Given the description of an element on the screen output the (x, y) to click on. 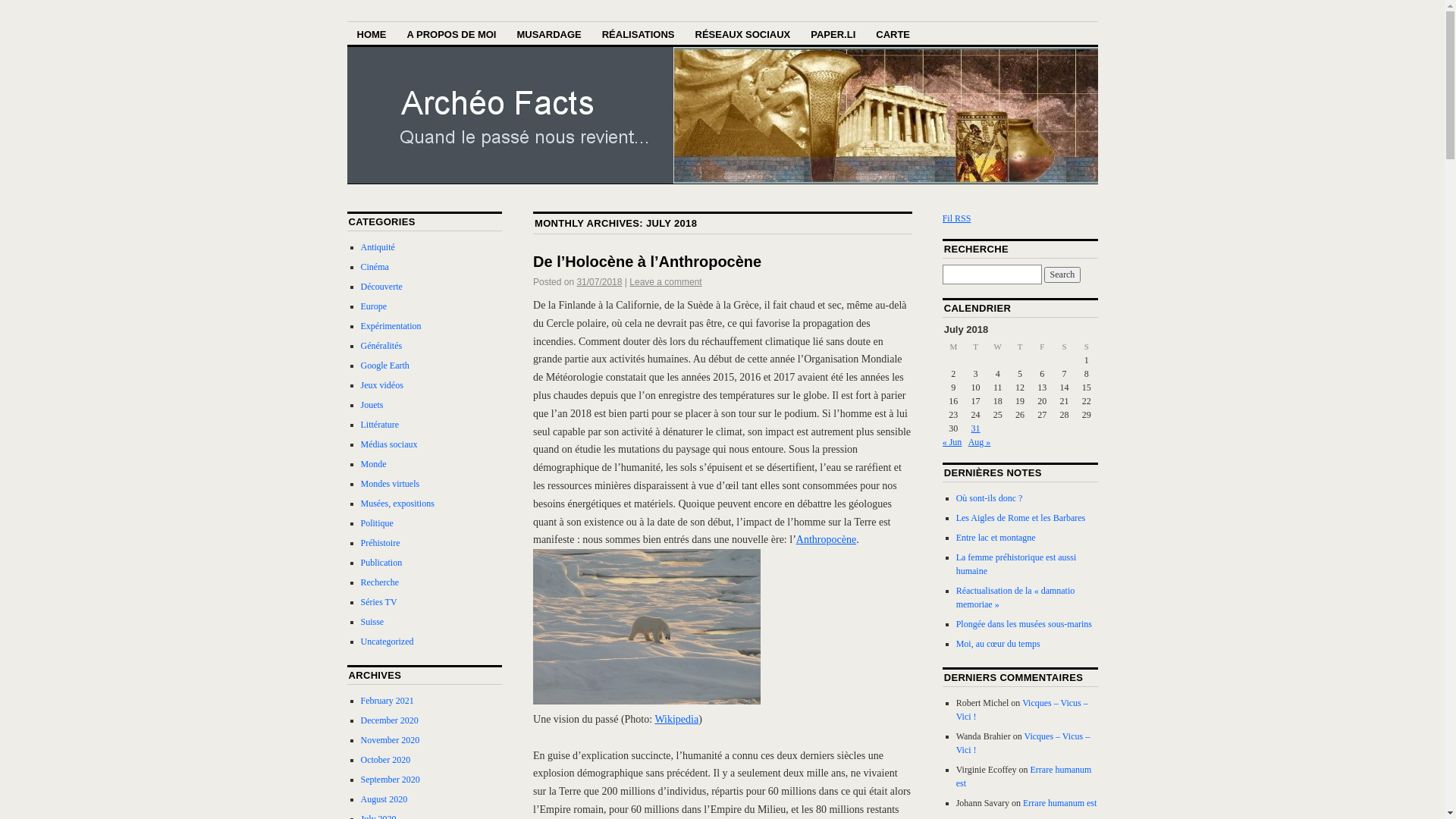
Jouets Element type: text (371, 404)
September 2020 Element type: text (390, 779)
MUSARDAGE Element type: text (548, 33)
Recherche Element type: text (379, 582)
November 2020 Element type: text (390, 739)
PAPER.LI Element type: text (832, 33)
Errare humanum est Element type: text (1059, 802)
A PROPOS DE MOI Element type: text (451, 33)
Wikipedia Element type: text (676, 718)
Les Aigles de Rome et les Barbares Element type: text (1020, 517)
Google Earth Element type: text (384, 365)
CARTE Element type: text (892, 33)
Publication Element type: text (381, 562)
February 2021 Element type: text (387, 700)
Europe Element type: text (373, 306)
December 2020 Element type: text (389, 720)
Search Element type: text (1062, 274)
Mondes virtuels Element type: text (390, 483)
Monde Element type: text (373, 463)
Leave a comment Element type: text (665, 281)
Fil RSS Element type: text (956, 218)
Politique Element type: text (376, 522)
October 2020 Element type: text (385, 759)
HOME Element type: text (371, 33)
Uncategorized Element type: text (387, 641)
31 Element type: text (975, 428)
31/07/2018 Element type: text (598, 281)
August 2020 Element type: text (383, 798)
Errare humanum est Element type: text (1024, 776)
Entre lac et montagne Element type: text (995, 537)
Suisse Element type: text (372, 621)
